Given the description of an element on the screen output the (x, y) to click on. 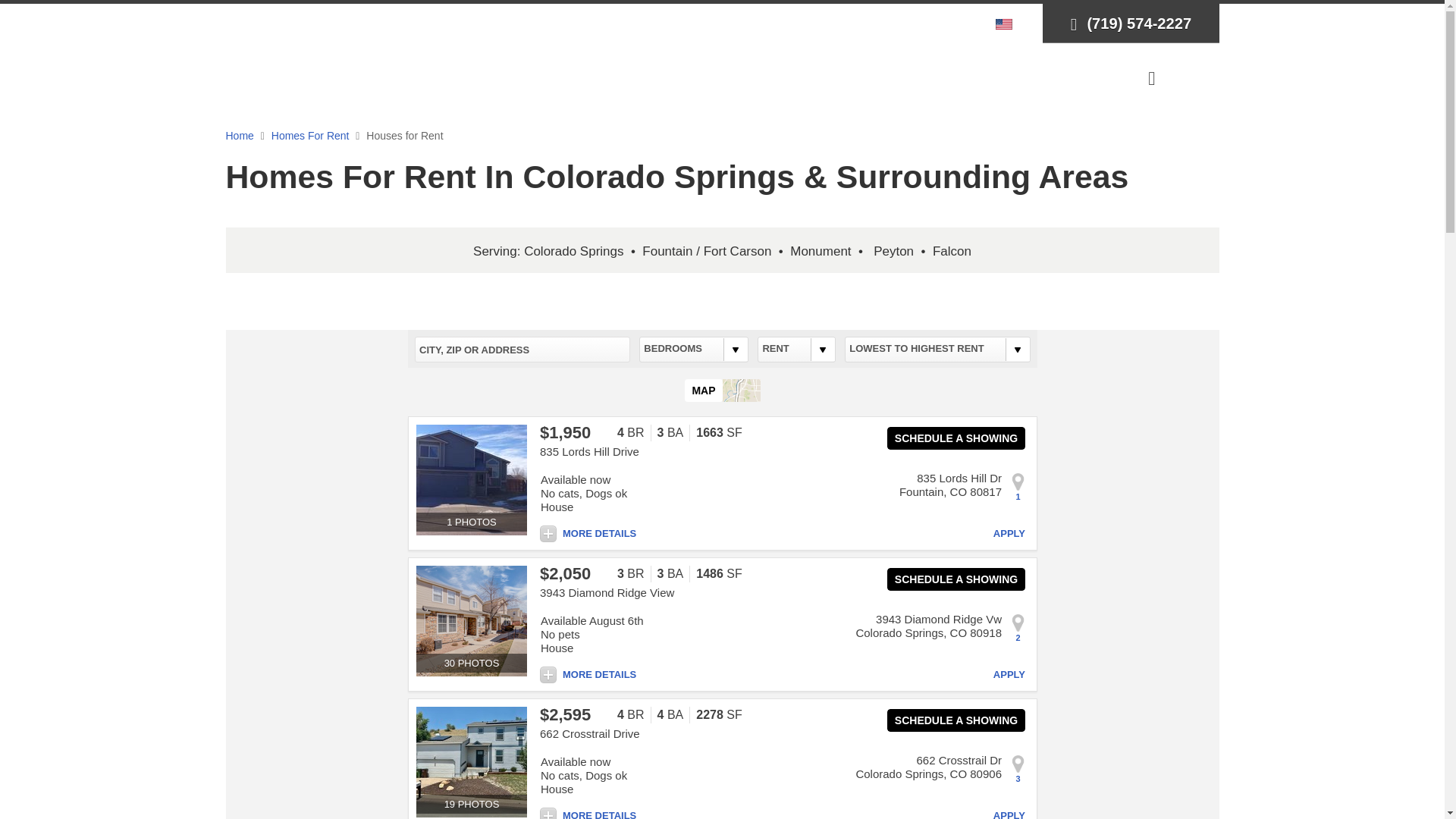
BUYER RESOURCES (671, 77)
Select Language (1008, 23)
Register (920, 23)
Home Page (285, 50)
HOMES FOR SALE (512, 77)
Login (872, 23)
